Given the description of an element on the screen output the (x, y) to click on. 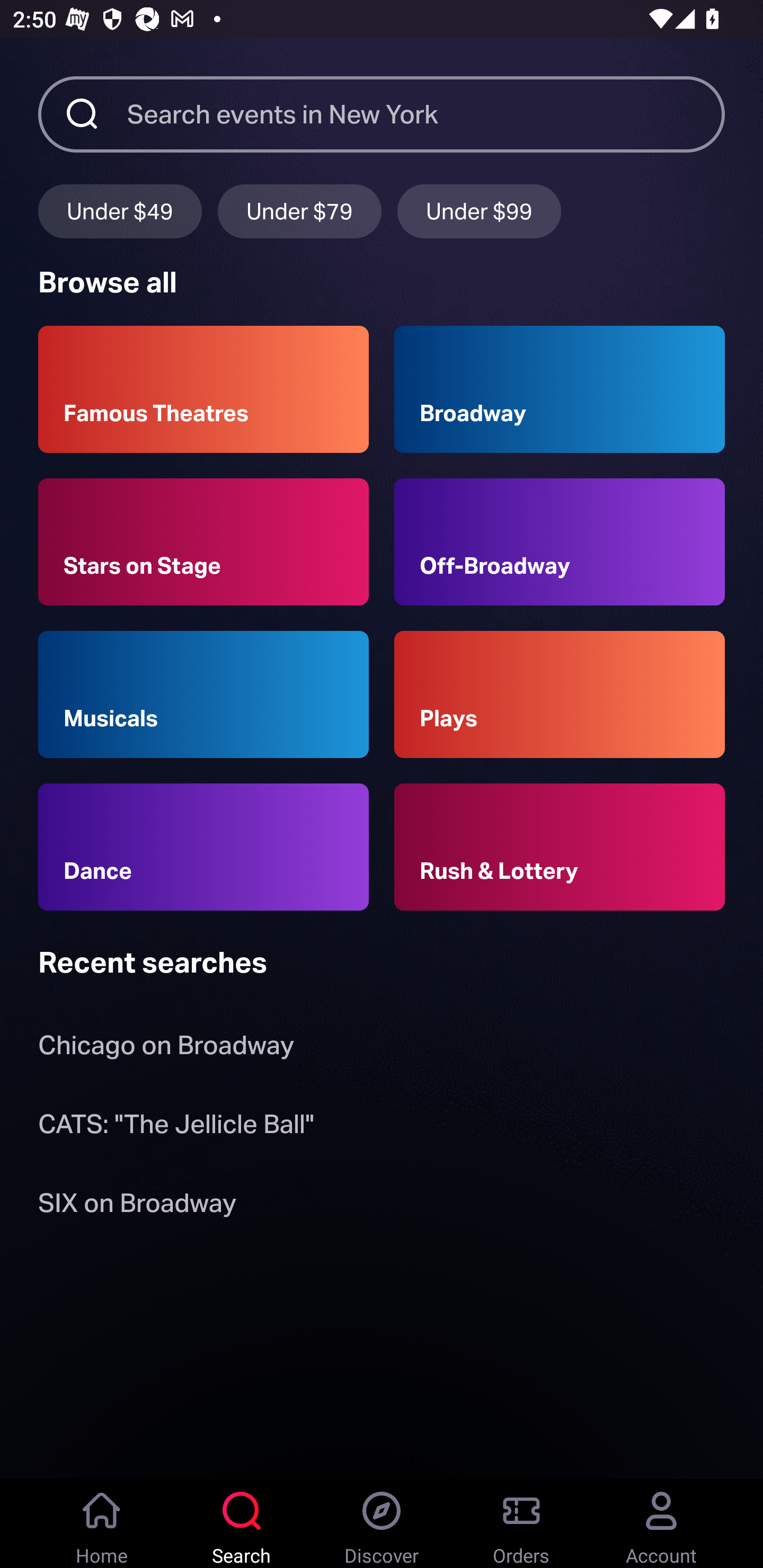
Search events in New York (425, 113)
Under $49 (120, 211)
Under $79 (299, 211)
Under $99 (478, 211)
Famous Theatres (203, 389)
Broadway (559, 389)
Stars on Stage (203, 541)
Off-Broadway (559, 541)
Musicals (203, 693)
Plays (559, 693)
Dance (203, 847)
Rush & Lottery (559, 847)
Chicago on Broadway (165, 1048)
CATS: "The Jellicle Ball" (176, 1127)
SIX on Broadway (137, 1205)
Home (101, 1523)
Discover (381, 1523)
Orders (521, 1523)
Account (660, 1523)
